Given the description of an element on the screen output the (x, y) to click on. 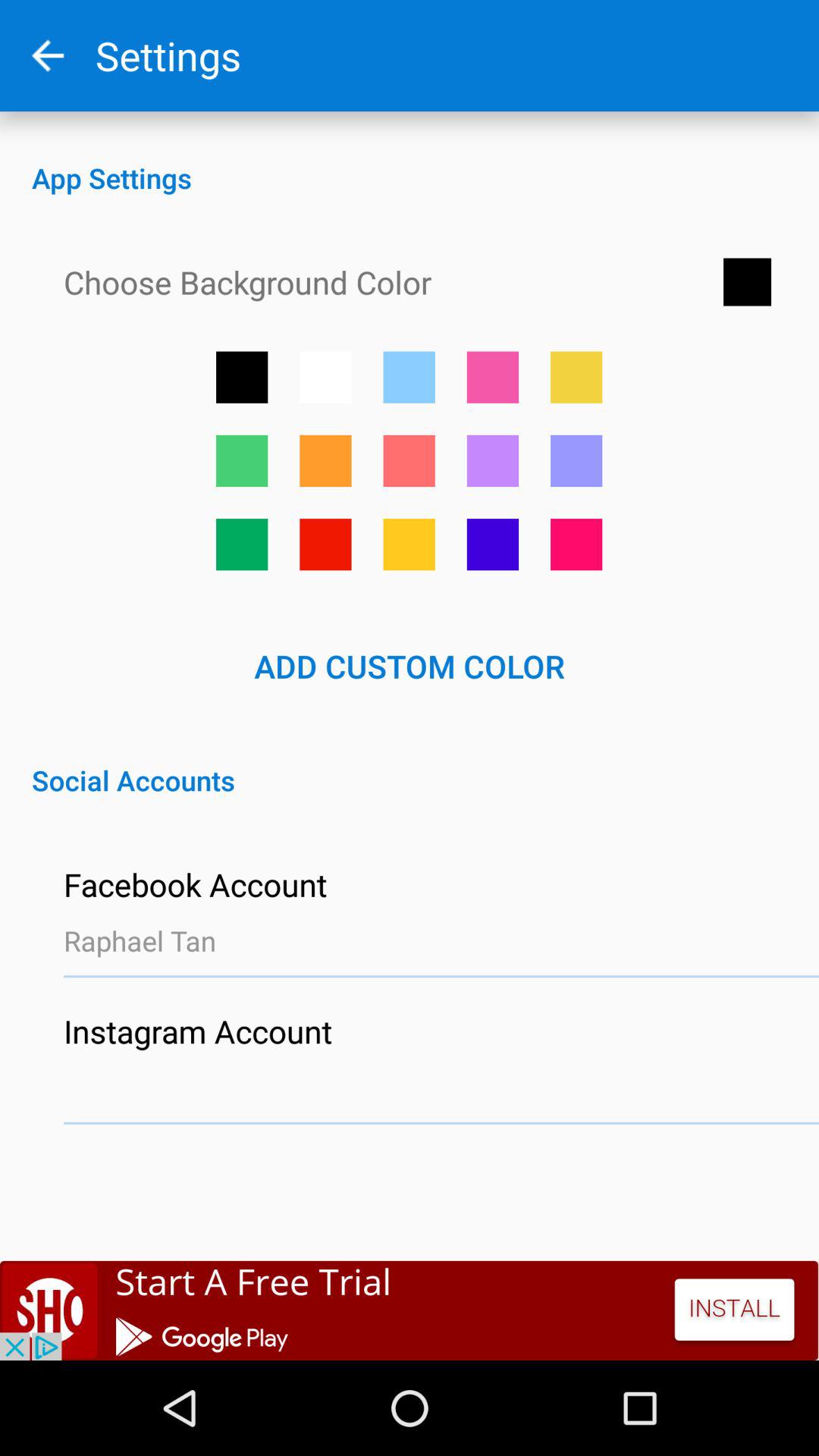
go to orange (325, 460)
